Given the description of an element on the screen output the (x, y) to click on. 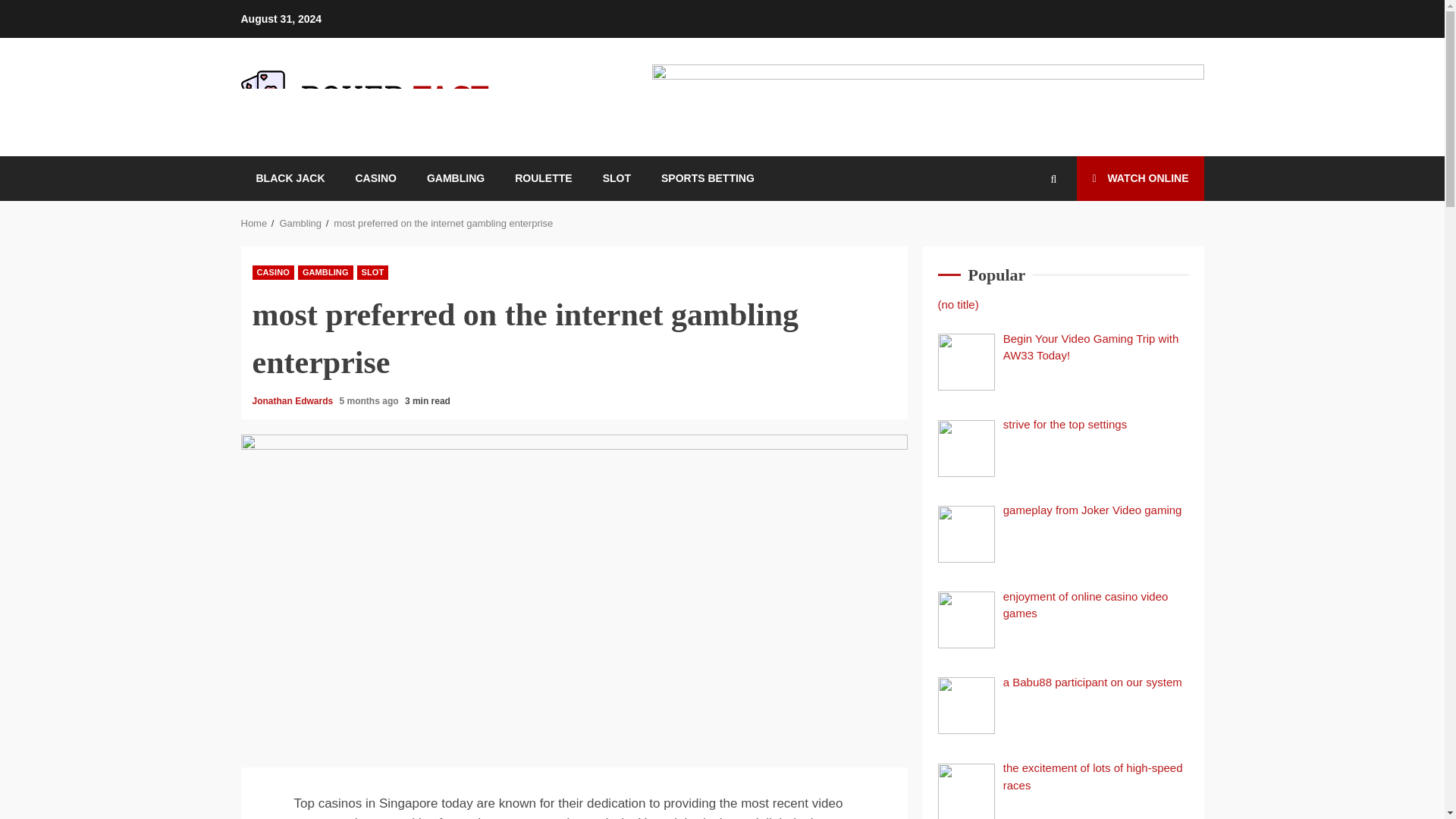
Jonathan Edwards (292, 400)
GAMBLING (455, 178)
Search (1030, 235)
Home (254, 223)
Gambling (300, 223)
SLOT (372, 272)
most preferred on the internet gambling enterprise (443, 223)
SPORTS BETTING (707, 178)
CASINO (272, 272)
SLOT (616, 178)
